Given the description of an element on the screen output the (x, y) to click on. 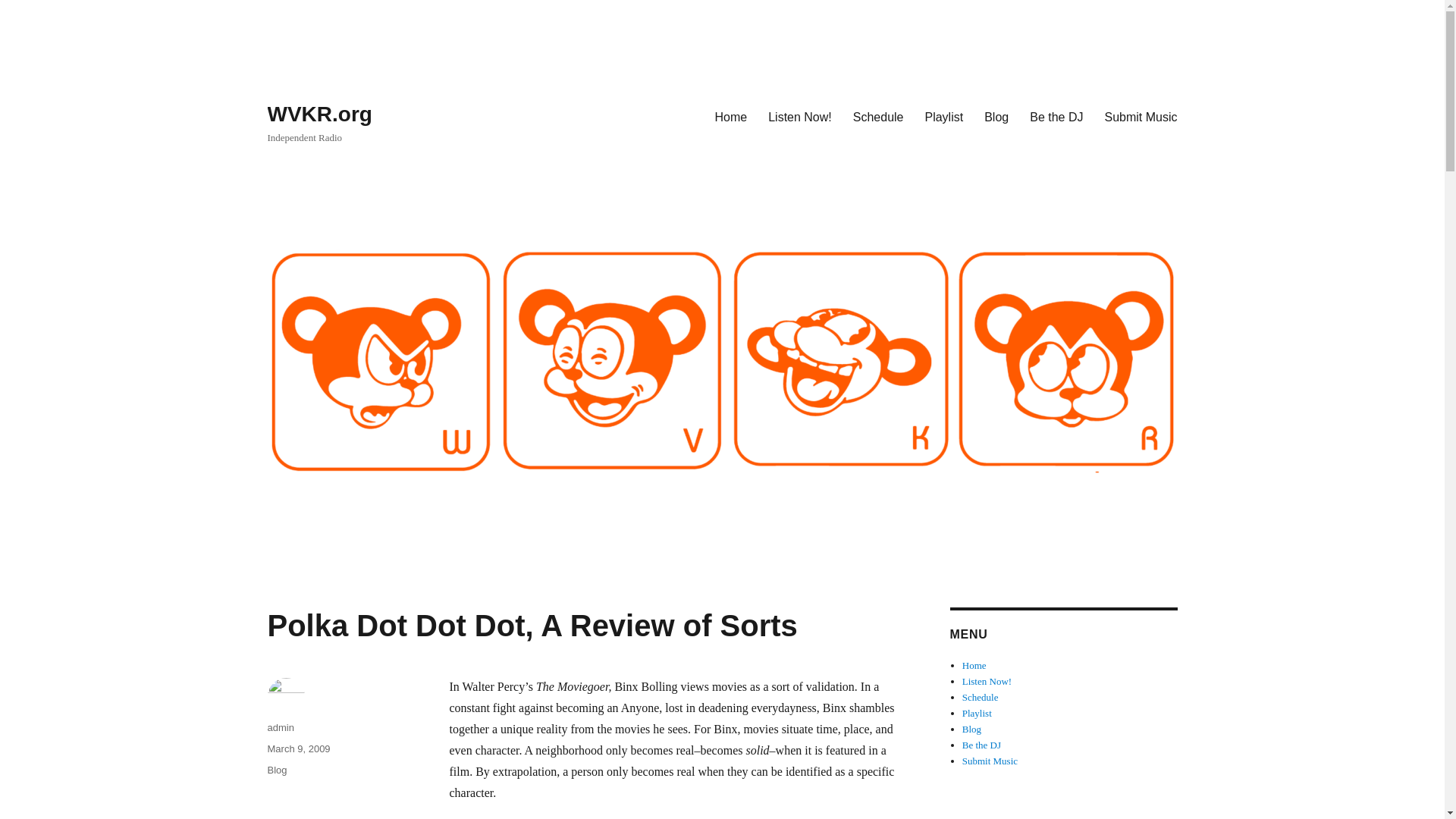
admin (280, 727)
Submit Music (989, 760)
WVKR.org (318, 114)
Be the DJ (981, 745)
Home (730, 116)
Schedule (878, 116)
Submit Music (1140, 116)
Listen Now! (800, 116)
March 9, 2009 (298, 748)
Blog (996, 116)
